Given the description of an element on the screen output the (x, y) to click on. 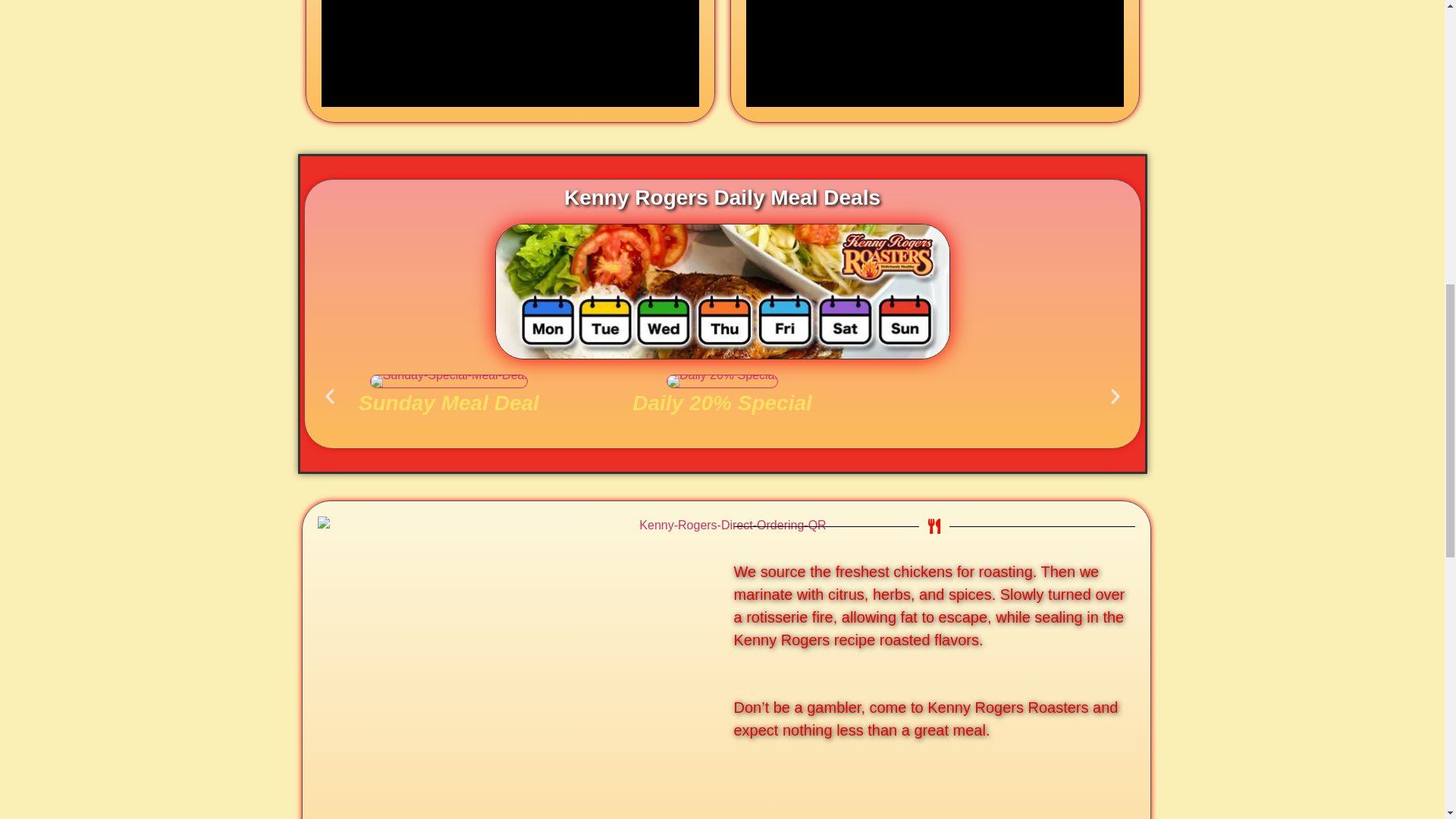
Sunday Meal Deal (449, 395)
